Given the description of an element on the screen output the (x, y) to click on. 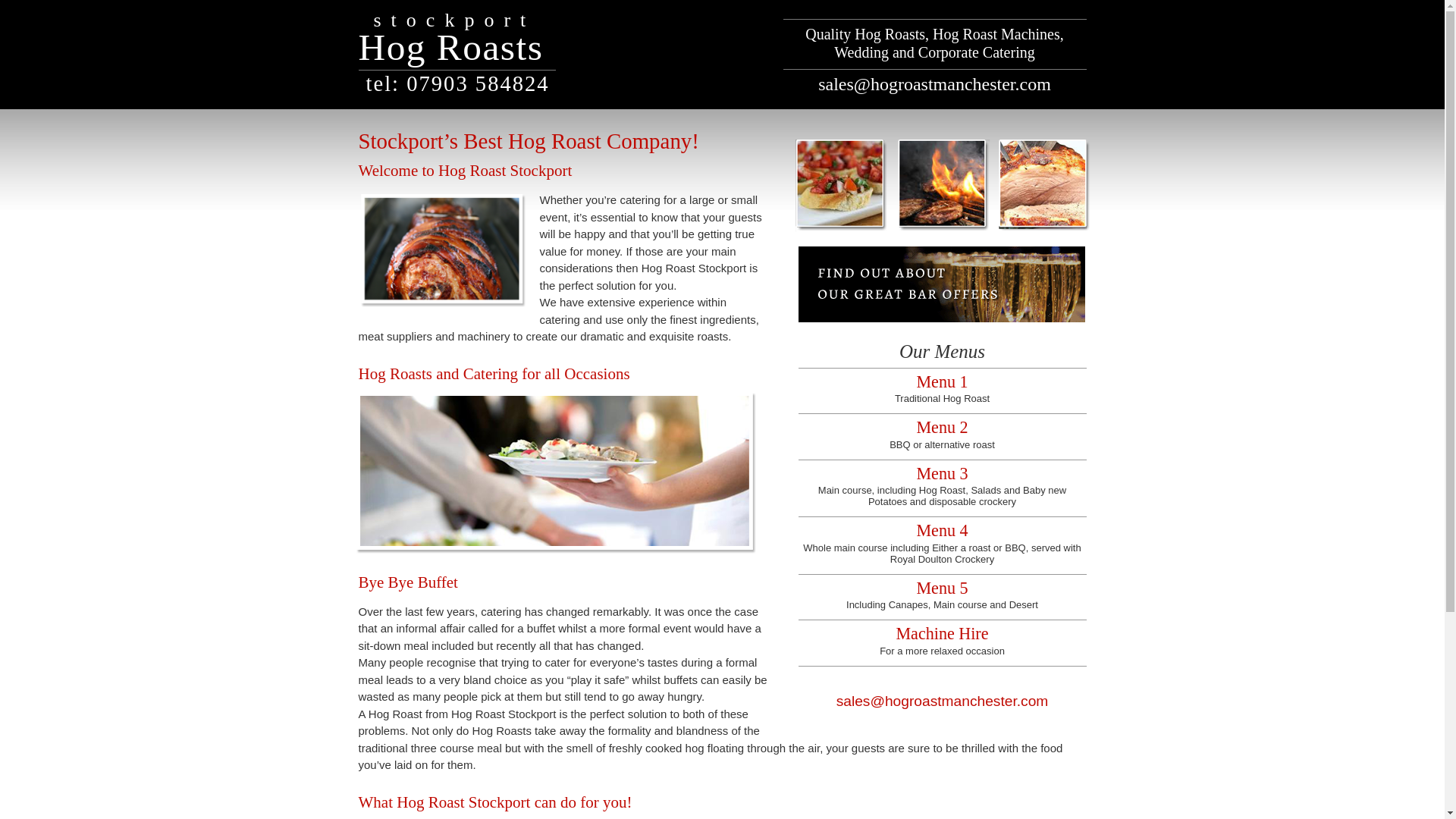
hog roast stockport (556, 472)
Hog Roasts (450, 46)
hog roast stockport (941, 642)
